Given the description of an element on the screen output the (x, y) to click on. 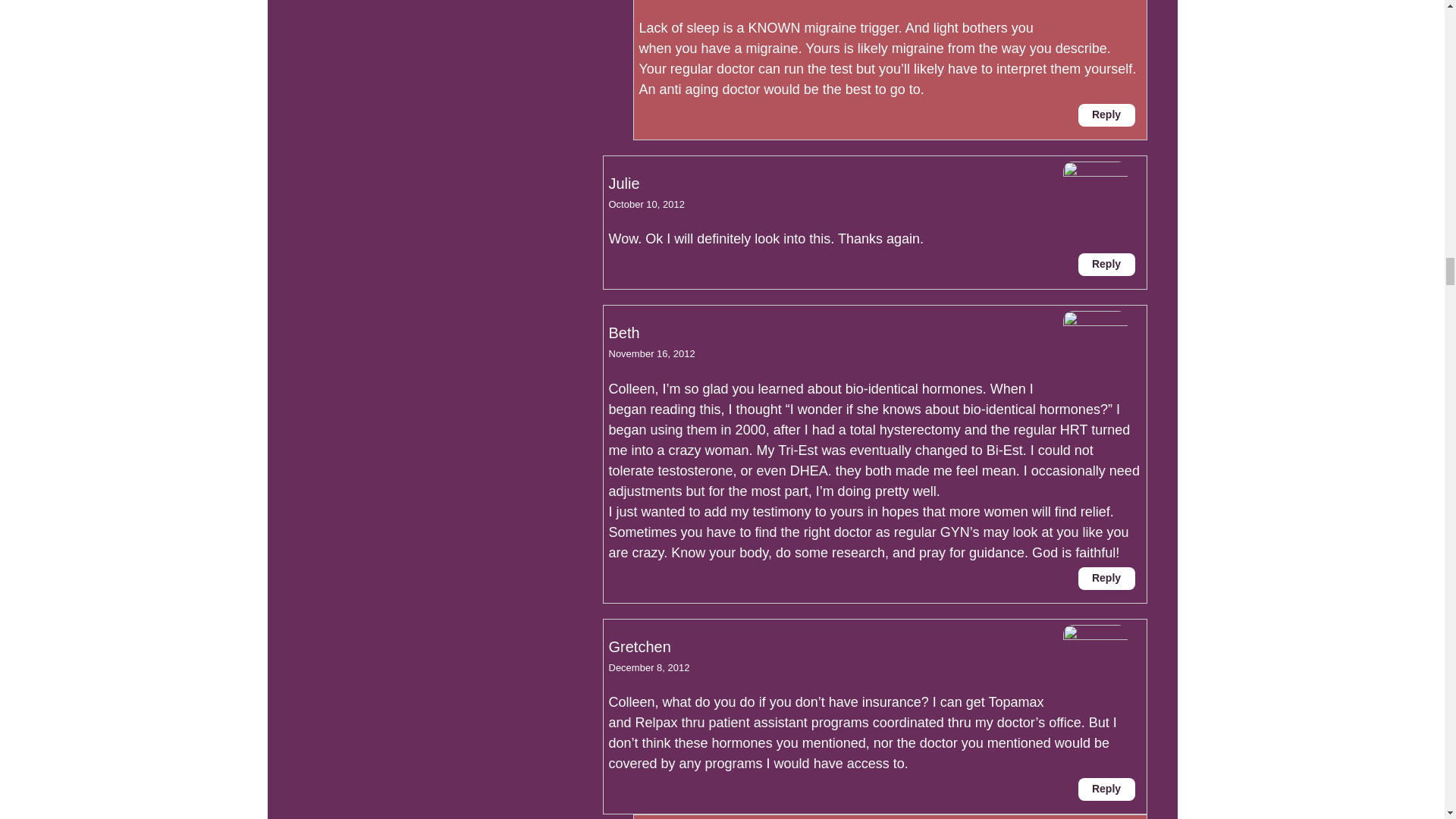
Reply (1106, 115)
Reply (1106, 264)
Reply (1106, 578)
Reply (1106, 789)
